Given the description of an element on the screen output the (x, y) to click on. 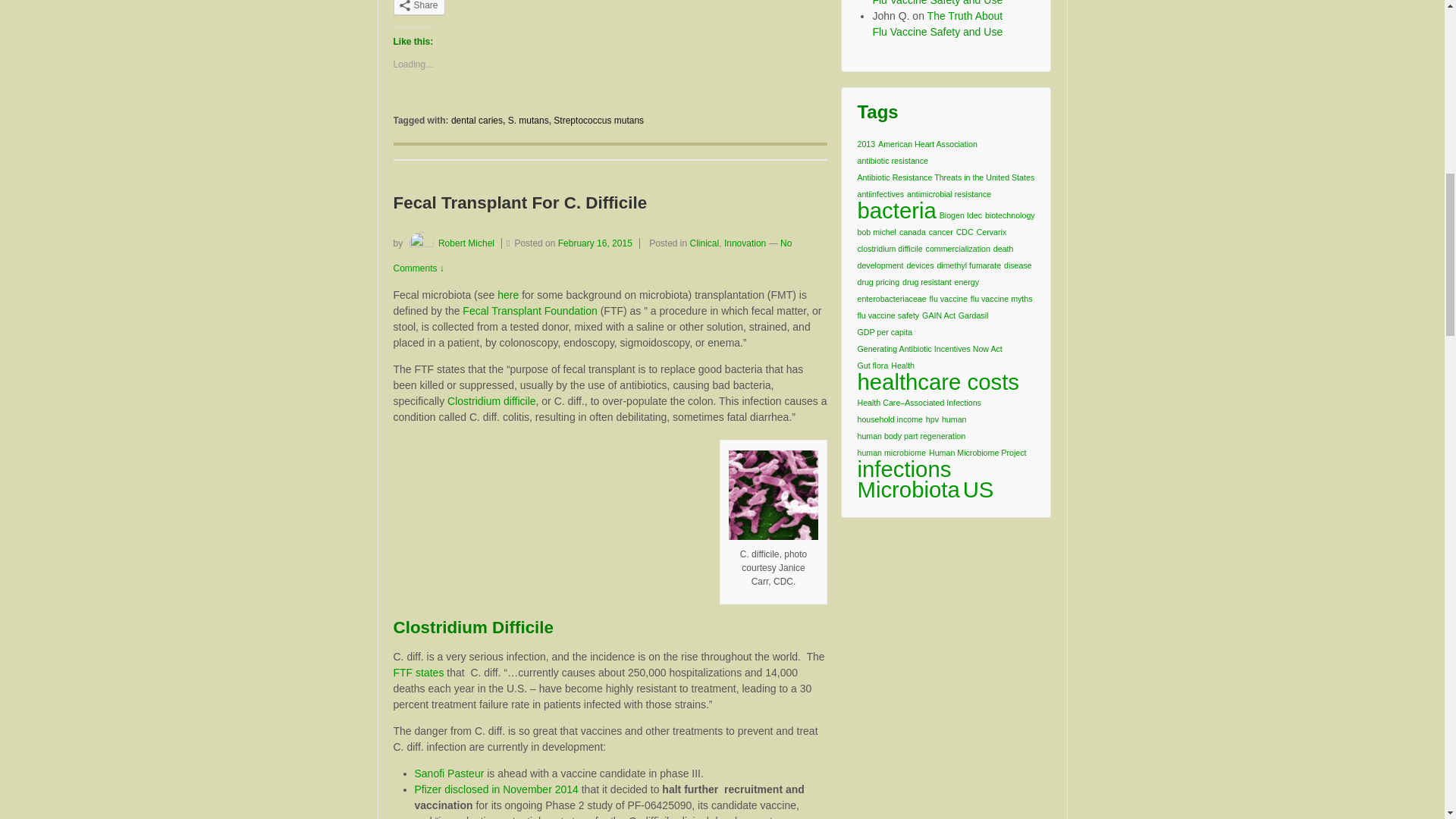
Fecal Transplant For C. Difficile (598, 243)
Sanofi Pasteur (448, 773)
Better Health Through Better Bacteria (507, 295)
View all posts by Robert Michel (450, 243)
Fecal Transplant Foundation (529, 310)
Pfizer disclosed in November 2014 (495, 788)
February 16, 2015 (598, 243)
Clinical (704, 243)
here (507, 295)
Fecal Transplant For C. Difficile (519, 202)
